Given the description of an element on the screen output the (x, y) to click on. 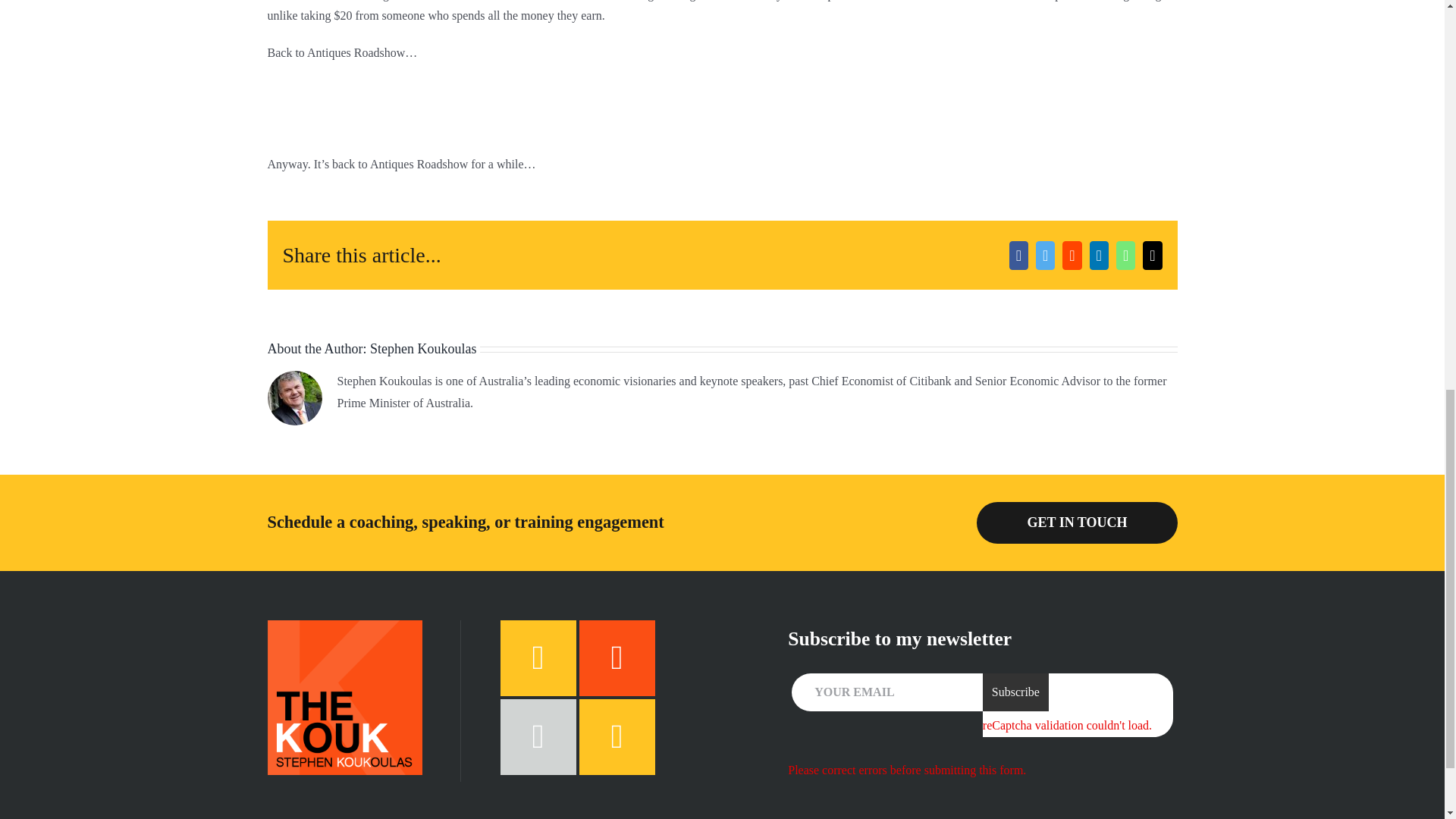
Posts by Stephen Koukoulas (422, 348)
Subscribe (1015, 692)
